Given the description of an element on the screen output the (x, y) to click on. 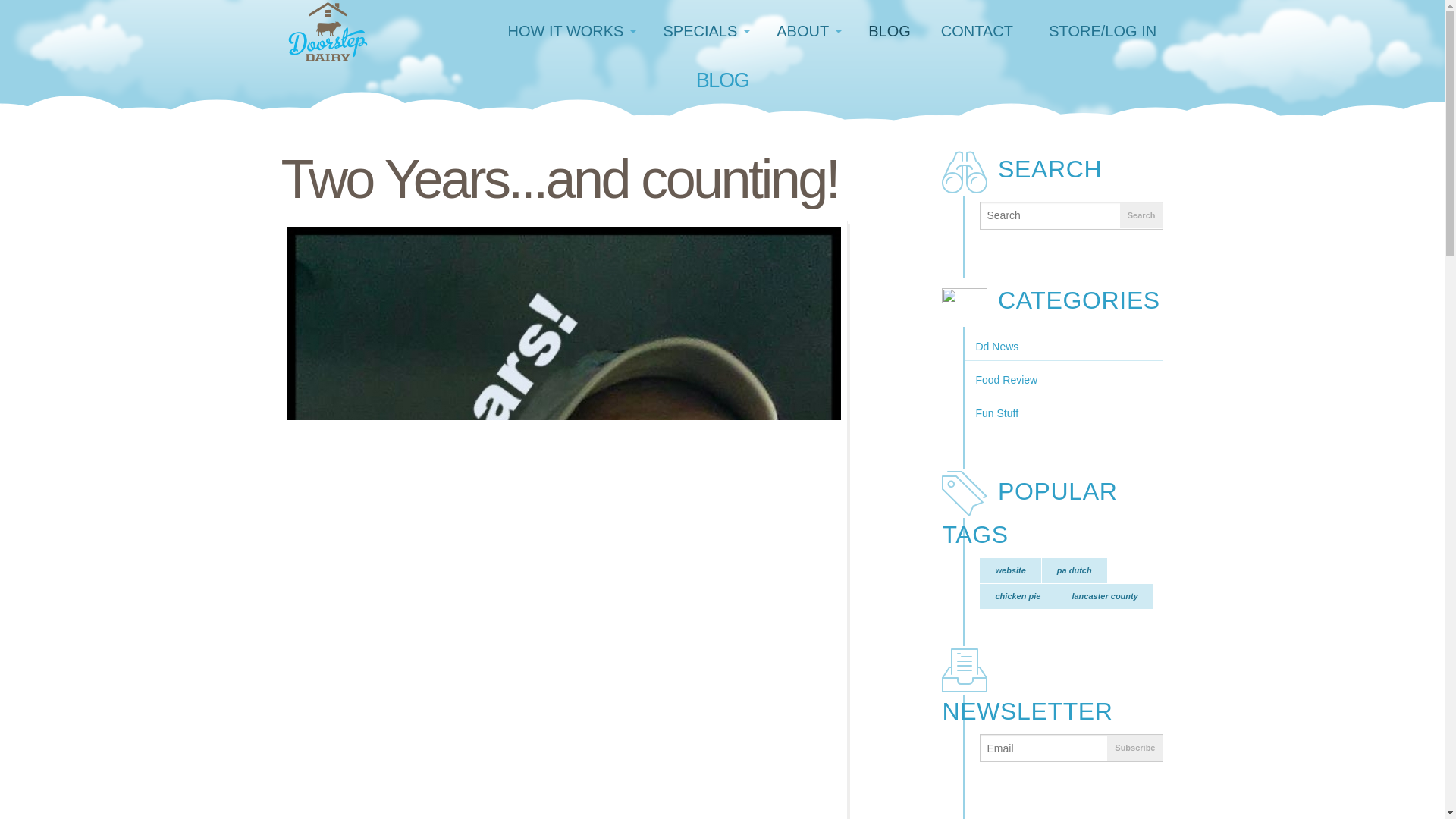
HOME DELIVERY (569, 94)
SPECIALS (704, 31)
Search (1141, 215)
CONTACT (976, 31)
Fun Stuff (1063, 412)
VENDORS (807, 220)
OUR STORY (807, 94)
chicken pie (1017, 596)
pa dutch (1074, 570)
Doorstep Dairy (316, 31)
